Given the description of an element on the screen output the (x, y) to click on. 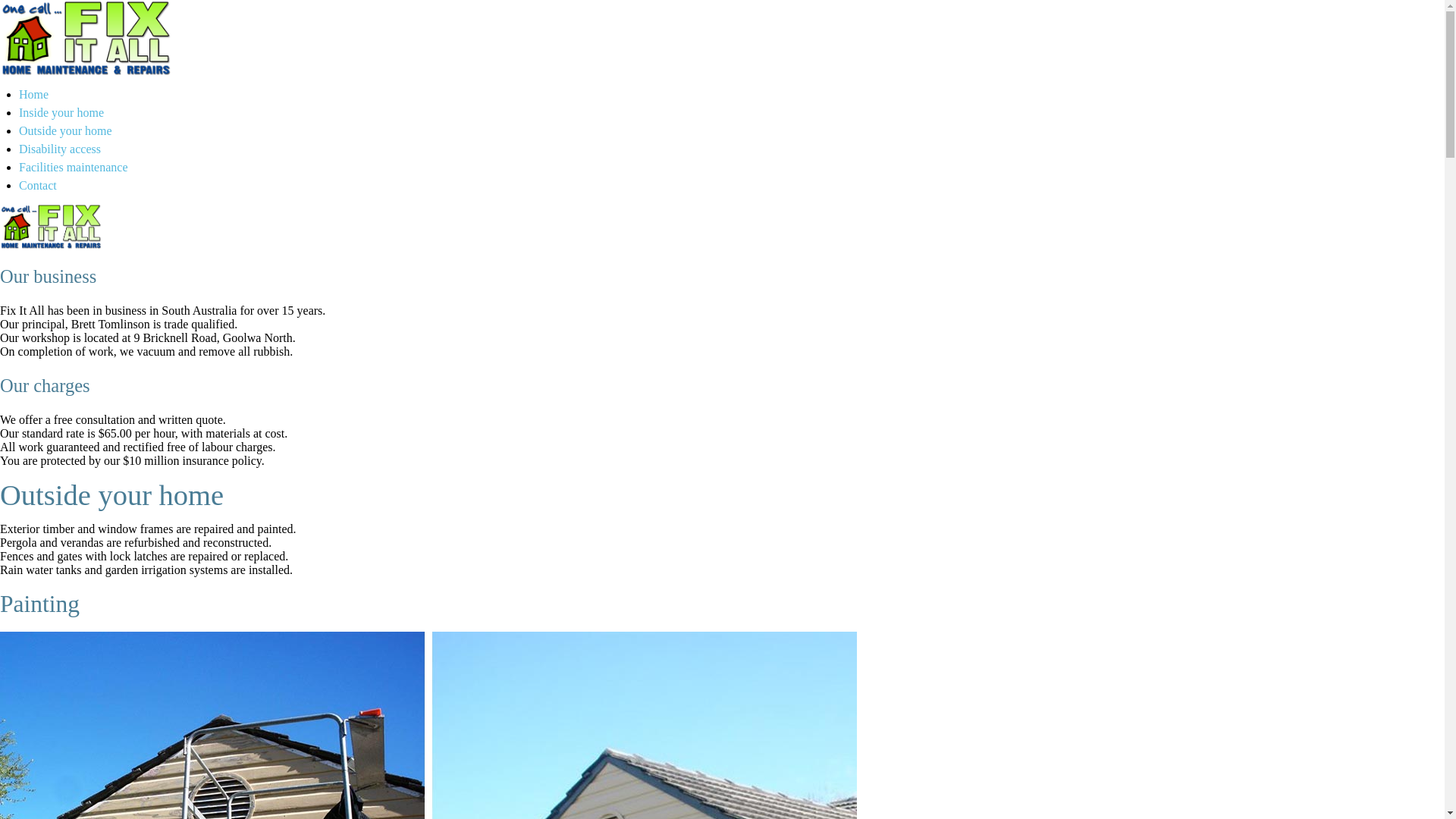
Outside your home Element type: text (65, 130)
Inside your home Element type: text (60, 112)
Disability access Element type: text (59, 148)
Contact Element type: text (37, 184)
Home Element type: text (33, 93)
Facilities maintenance Element type: text (73, 166)
